Given the description of an element on the screen output the (x, y) to click on. 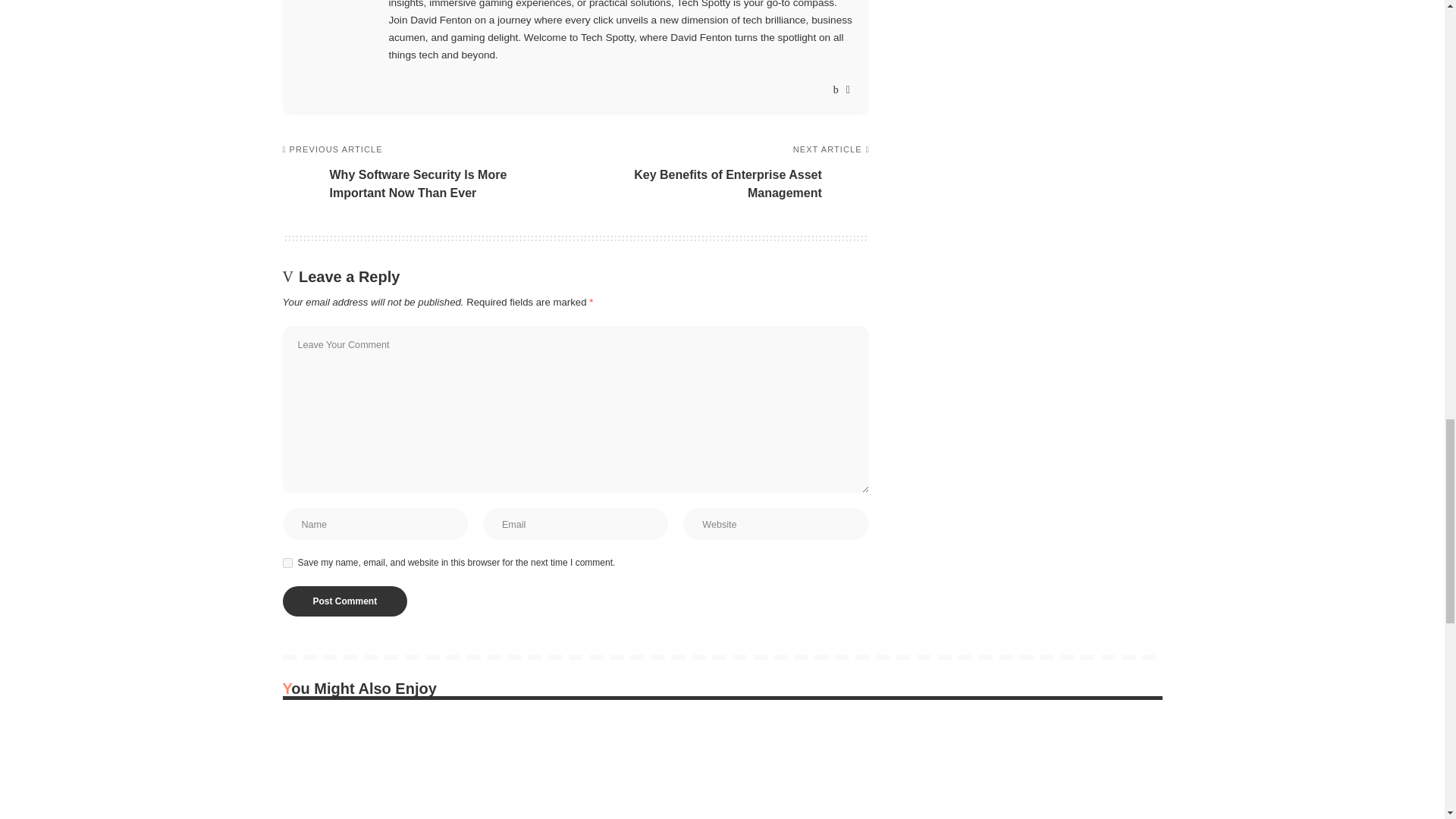
yes (287, 562)
Post Comment (344, 601)
